Given the description of an element on the screen output the (x, y) to click on. 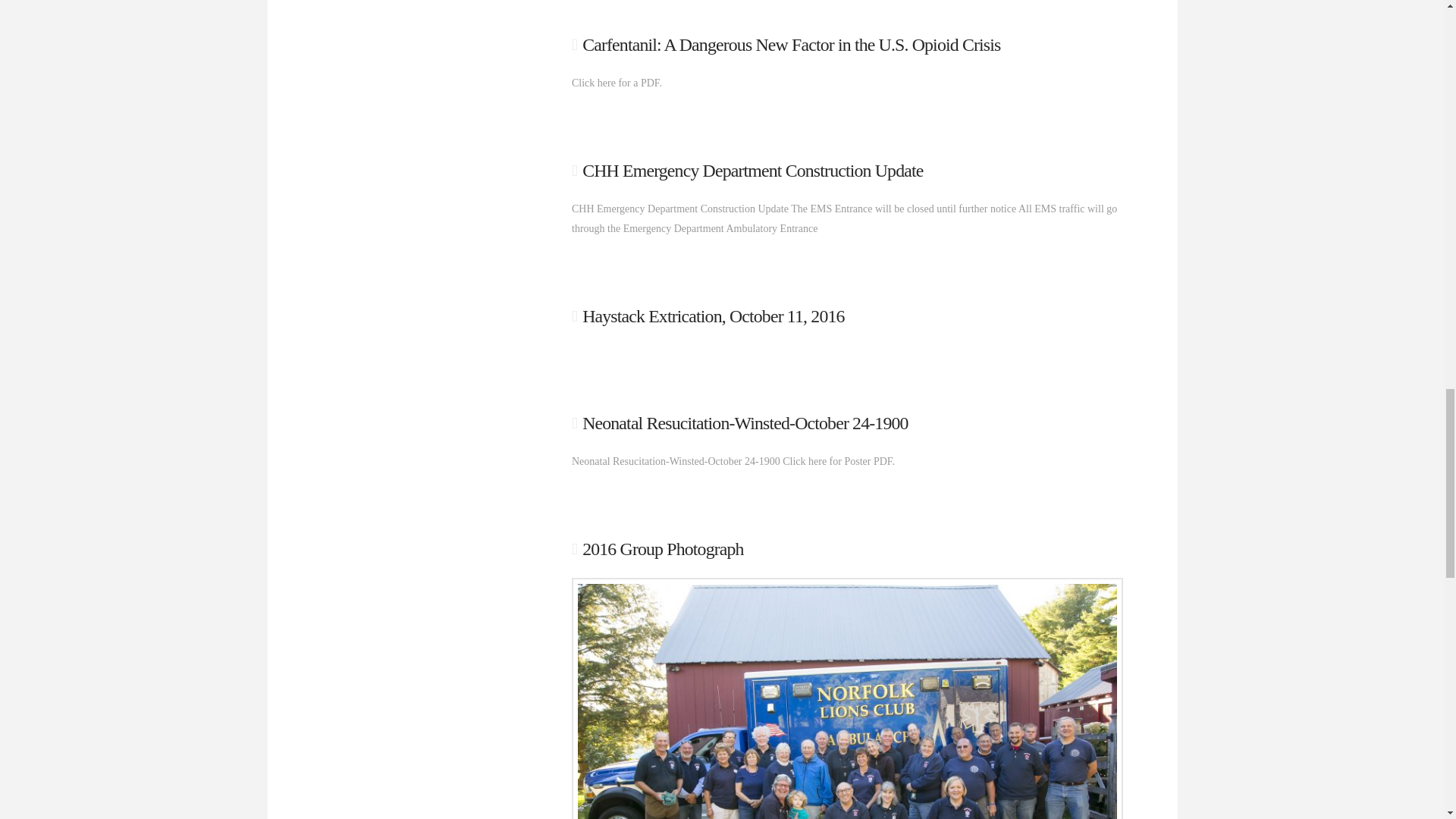
2016 Group Photograph (663, 548)
Permalink to: "2016 Group Photograph" (663, 548)
Neonatal Resucitation-Winsted-October 24-1900 (744, 423)
Haystack Extrication, October 11, 2016 (713, 315)
CHH Emergency Department Construction Update (752, 170)
Permalink to: "CHH Emergency Department Construction Update" (752, 170)
Permalink to: "2016 Group Photograph" (847, 701)
